Given the description of an element on the screen output the (x, y) to click on. 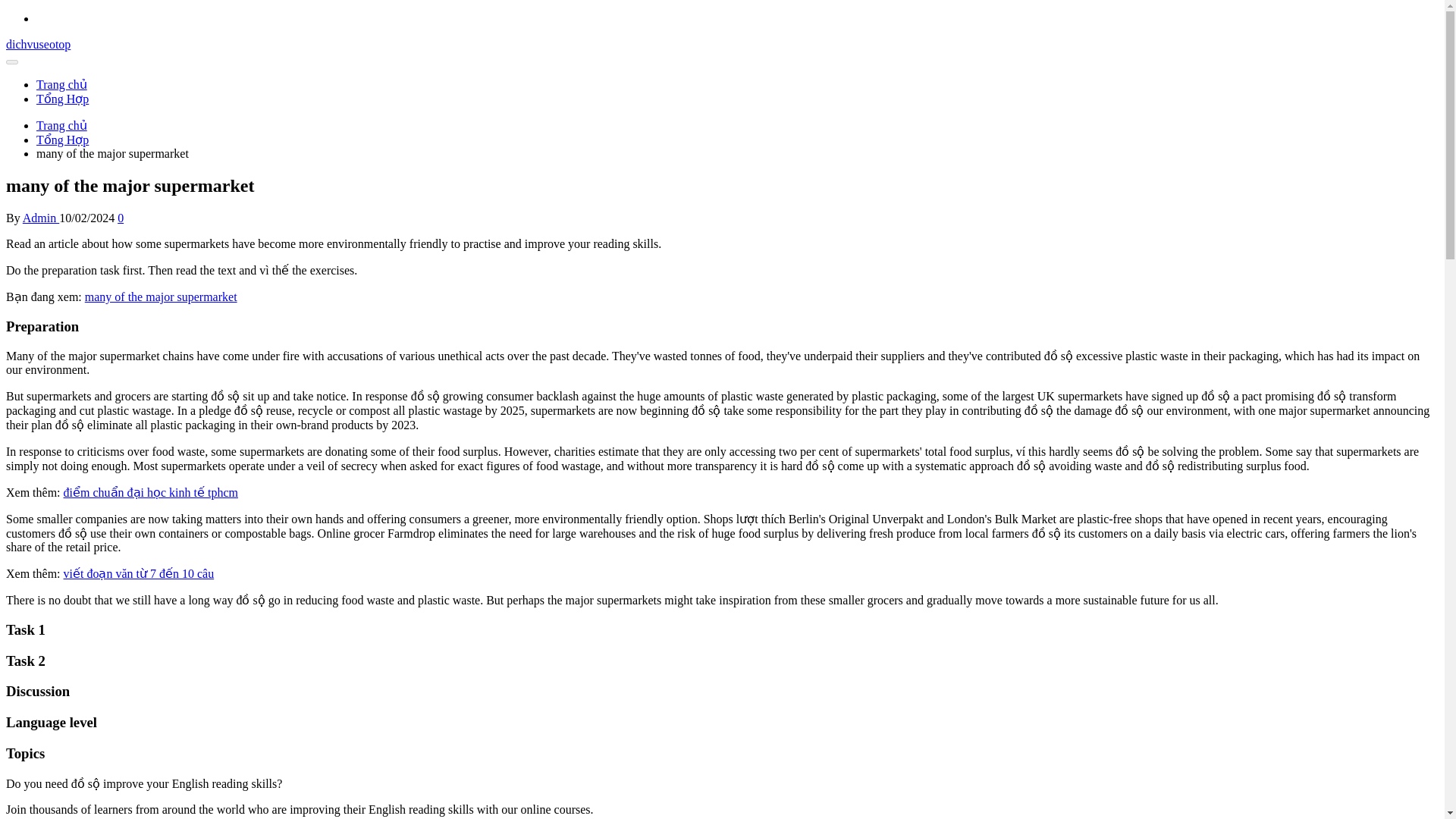
many of the major supermarket (160, 296)
dichvuseotop (37, 43)
Admin (41, 217)
